Given the description of an element on the screen output the (x, y) to click on. 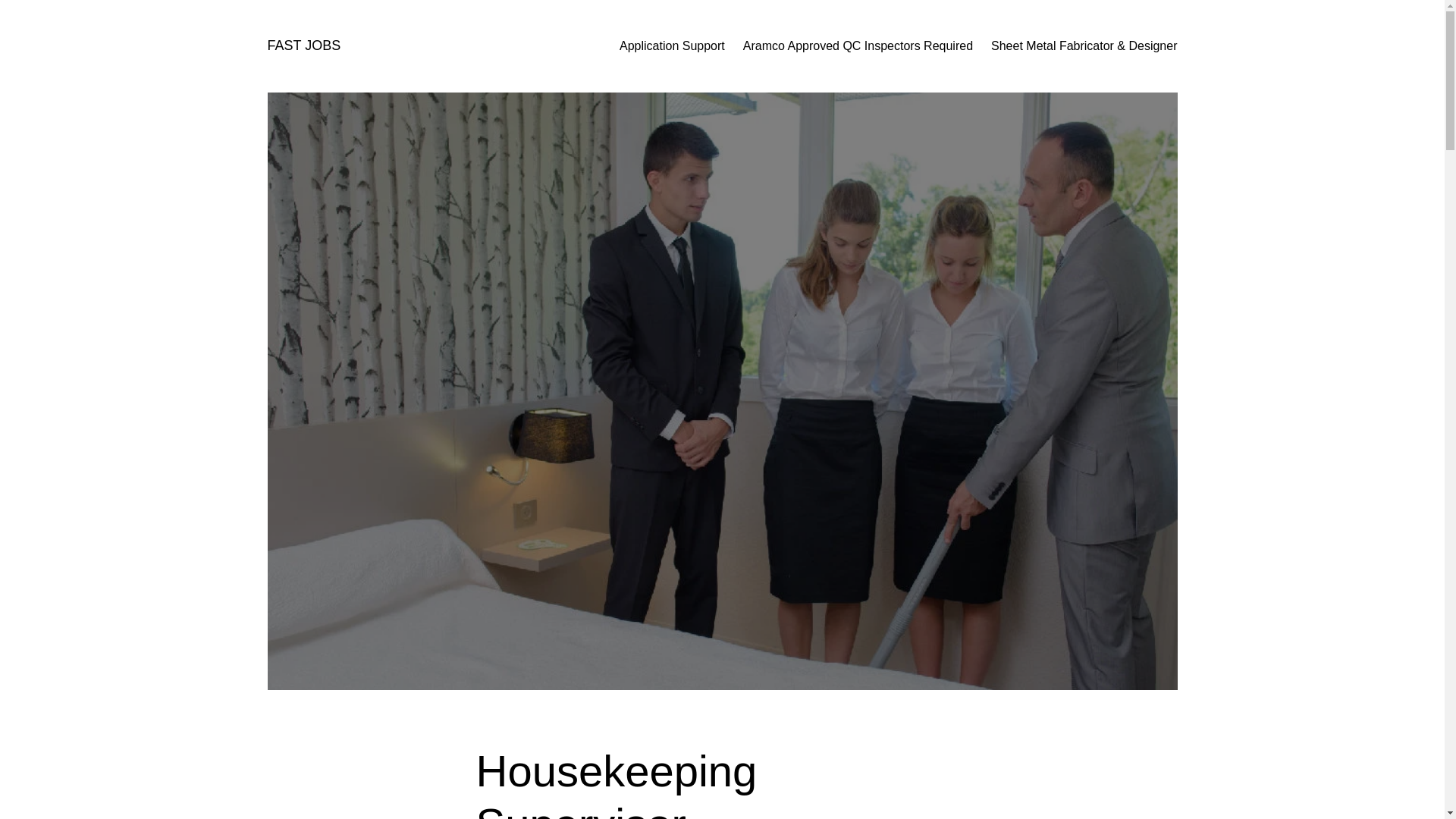
Aramco Approved QC Inspectors Required (857, 46)
Application Support (672, 46)
FAST JOBS (303, 45)
